Given the description of an element on the screen output the (x, y) to click on. 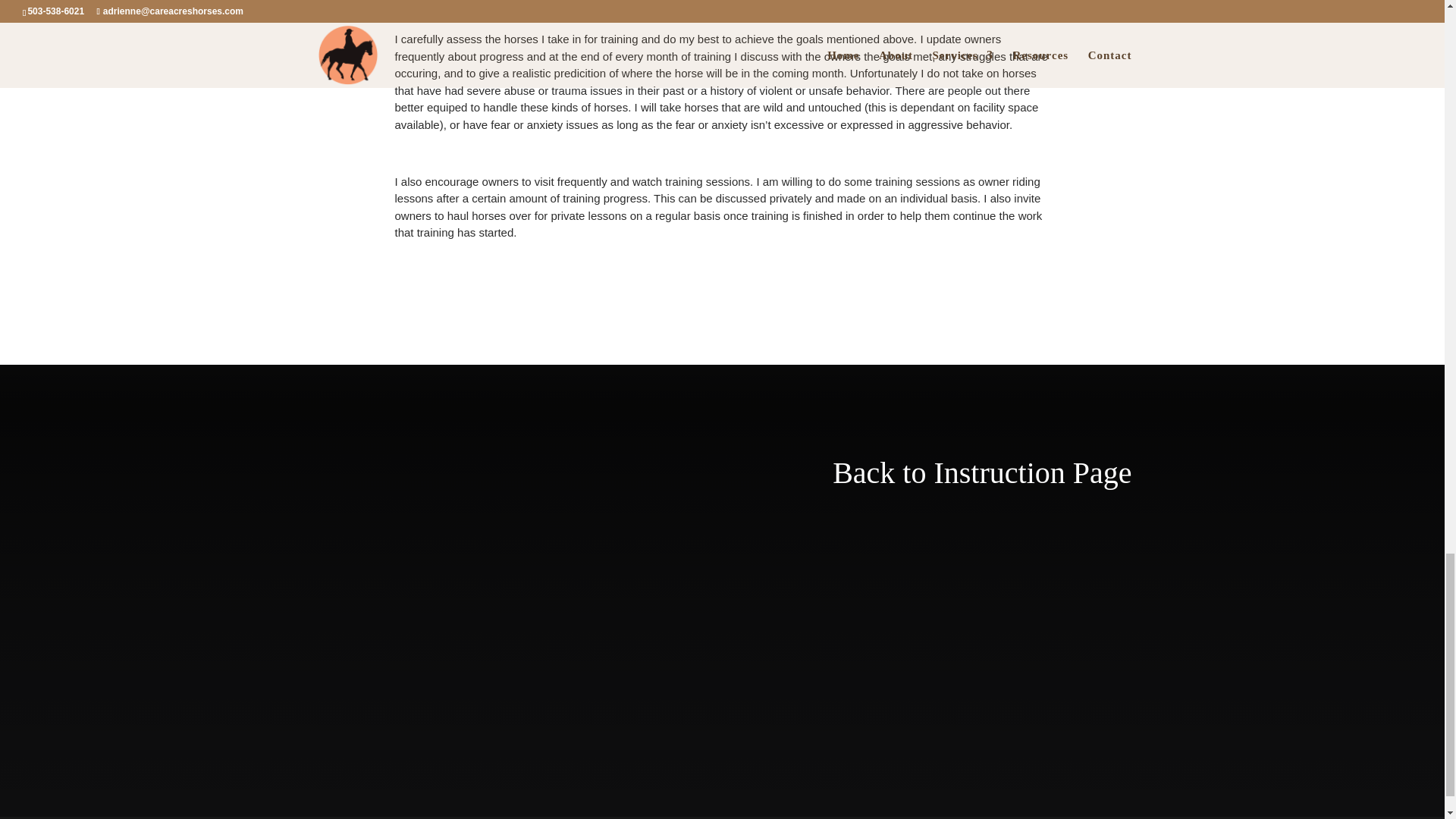
Back to Instruction Page (981, 472)
